Given the description of an element on the screen output the (x, y) to click on. 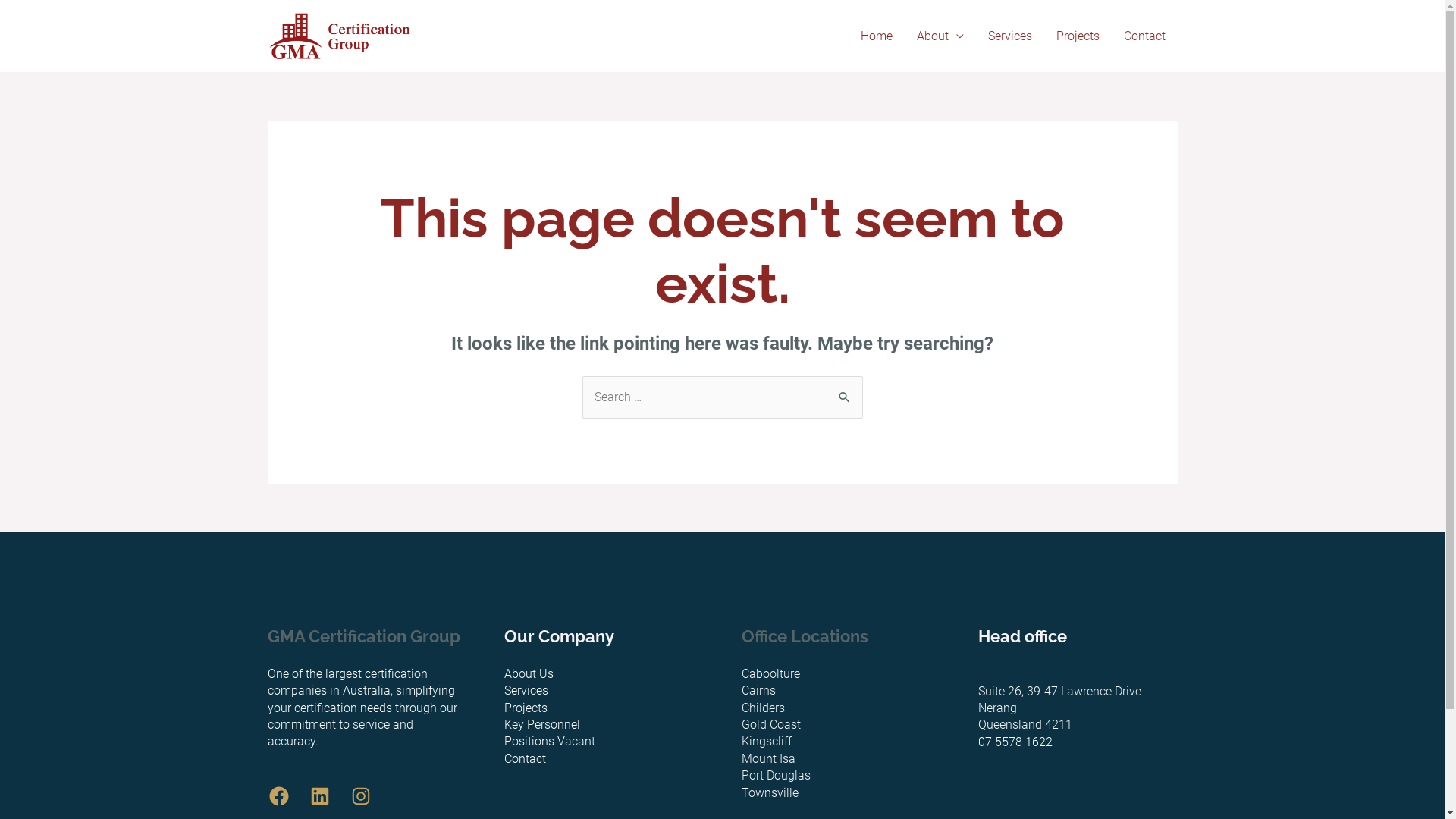
Services Element type: text (1009, 35)
Key Personnel Element type: text (542, 724)
Home Element type: text (875, 35)
Projects Element type: text (1076, 35)
Projects Element type: text (525, 707)
About Element type: text (939, 35)
Positions Vacant Element type: text (549, 741)
Search Element type: text (845, 391)
Contact Element type: text (1144, 35)
07 5578 1622 Element type: text (1015, 741)
Contact Element type: text (525, 758)
About Us Element type: text (528, 673)
Services Element type: text (526, 690)
